Given the description of an element on the screen output the (x, y) to click on. 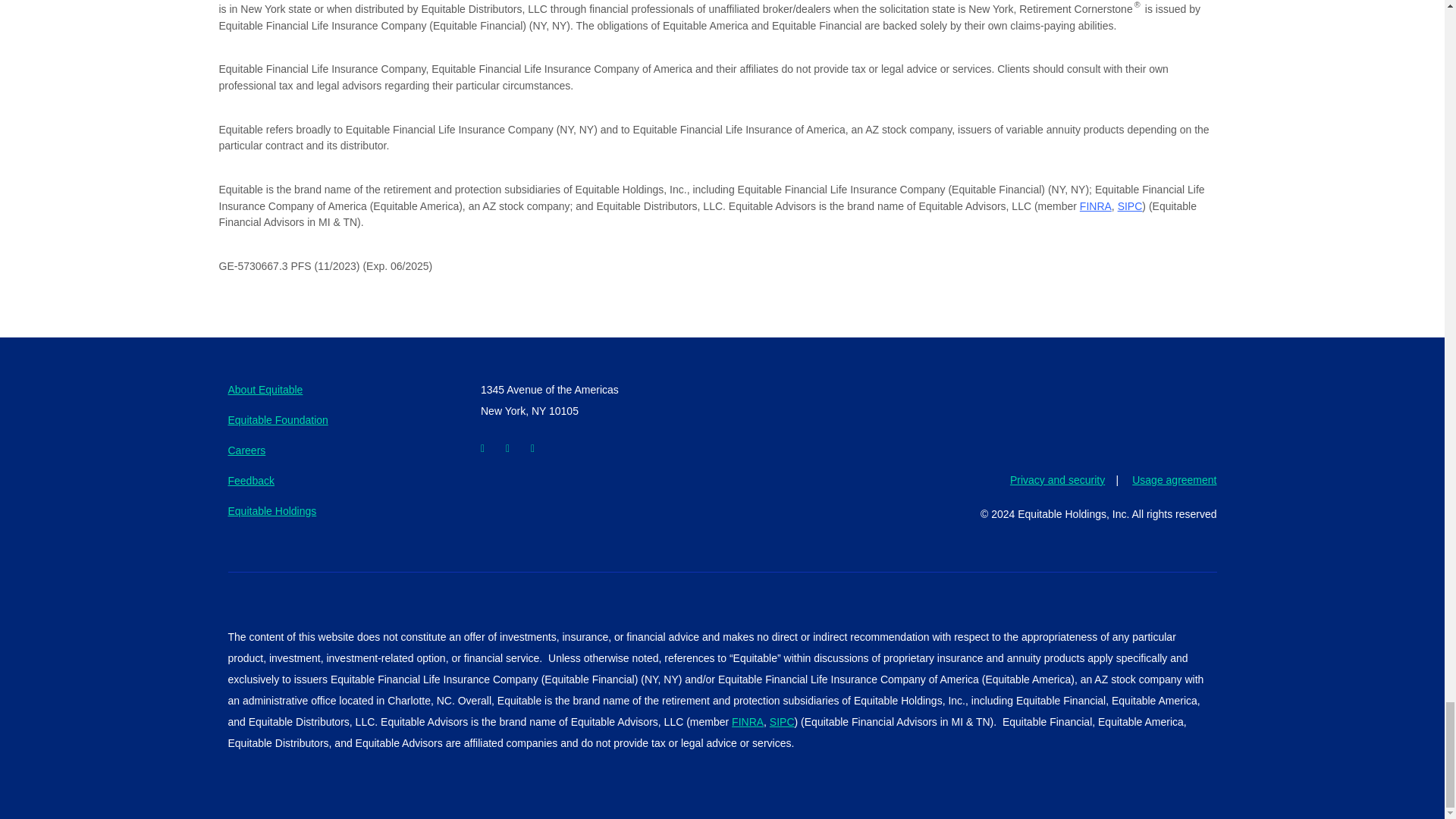
FINRA (1096, 205)
Usage agreement (1166, 480)
Equitable Holdings (271, 510)
Privacy and security (1064, 480)
Website feedback opens in a new window (250, 480)
SIPC (1130, 205)
